Given the description of an element on the screen output the (x, y) to click on. 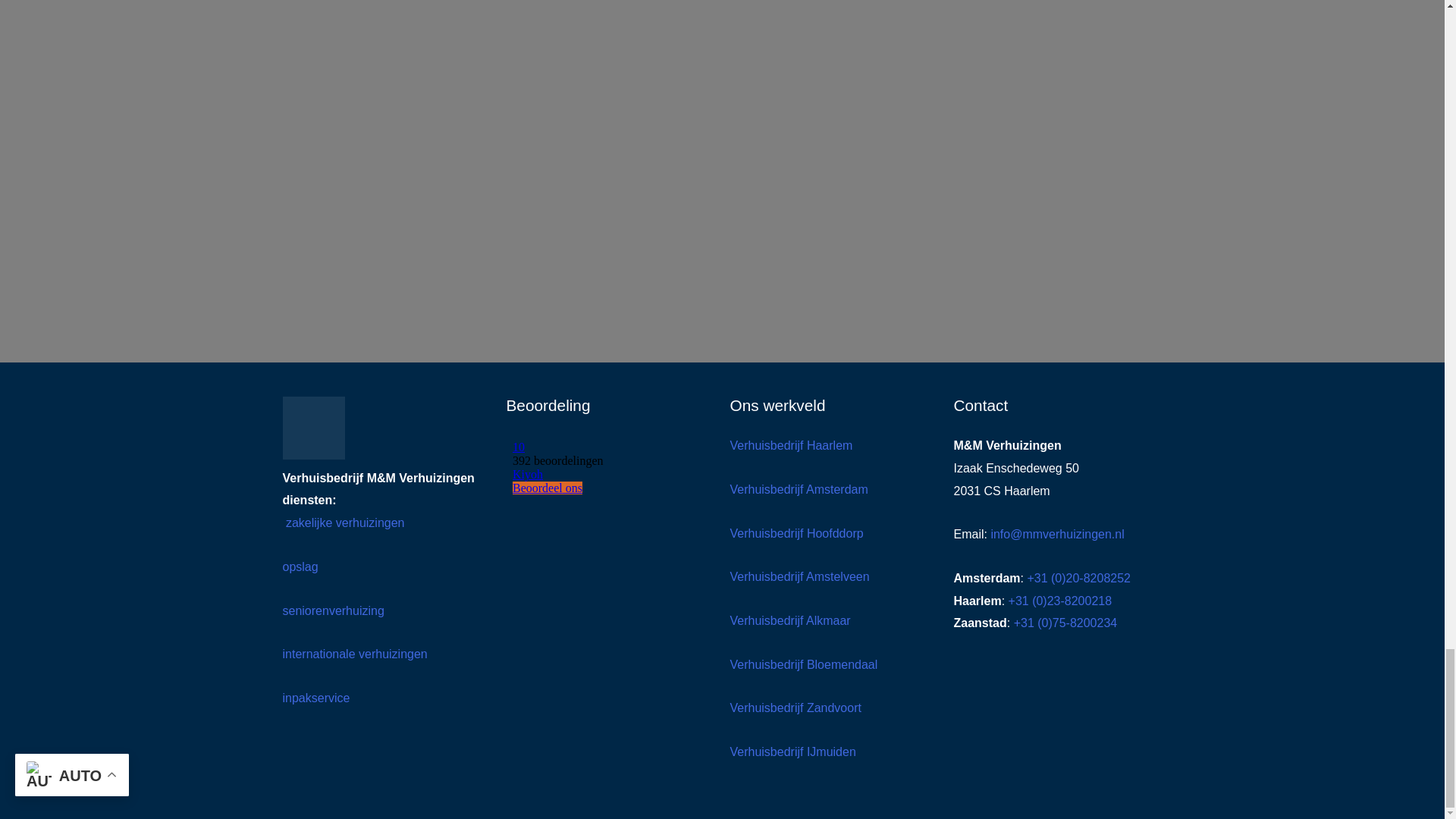
 zakelijke verhuizingen (343, 522)
opslag (299, 566)
seniorenverhuizing (333, 610)
